Given the description of an element on the screen output the (x, y) to click on. 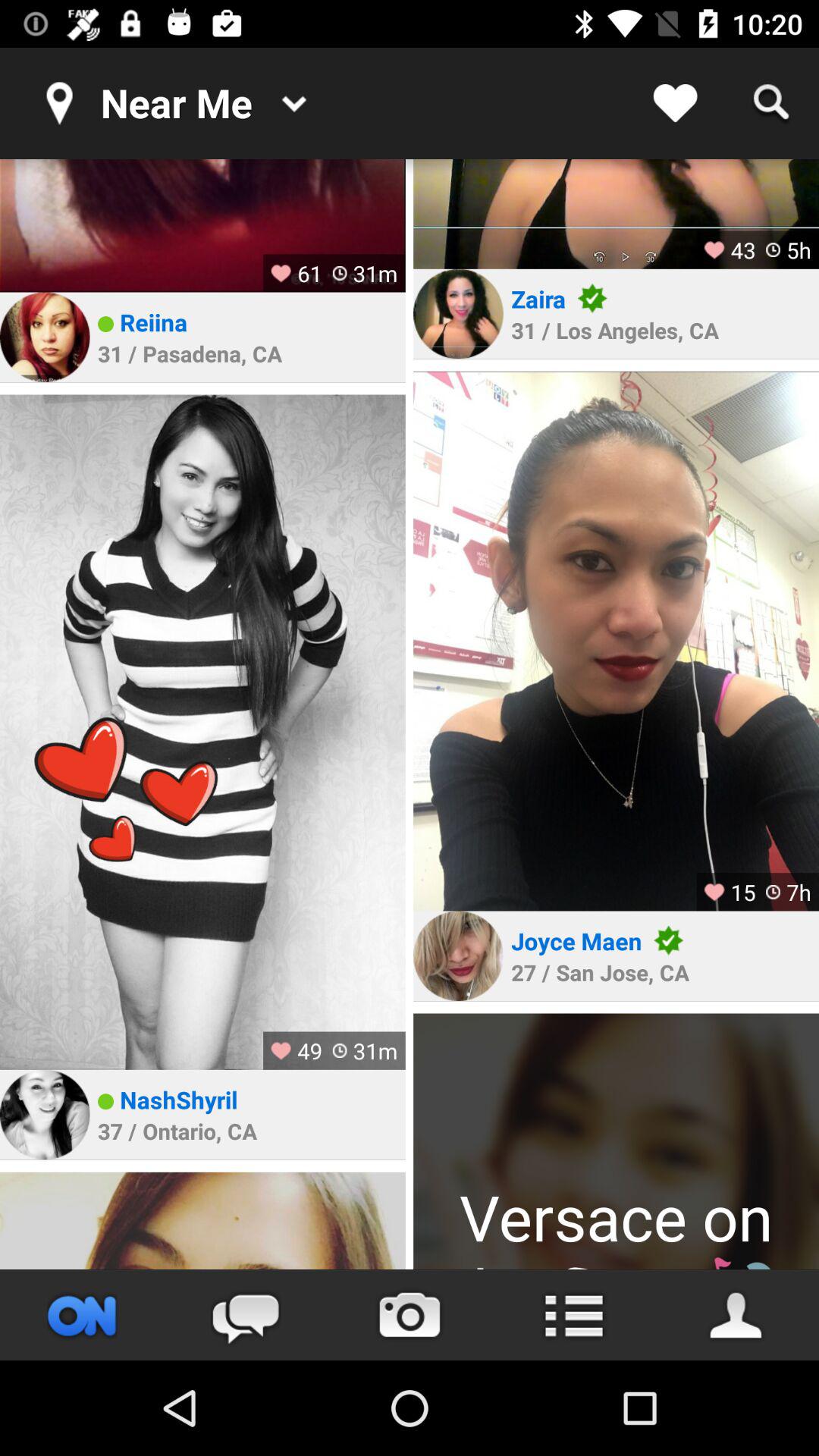
photo avatar (458, 956)
